Given the description of an element on the screen output the (x, y) to click on. 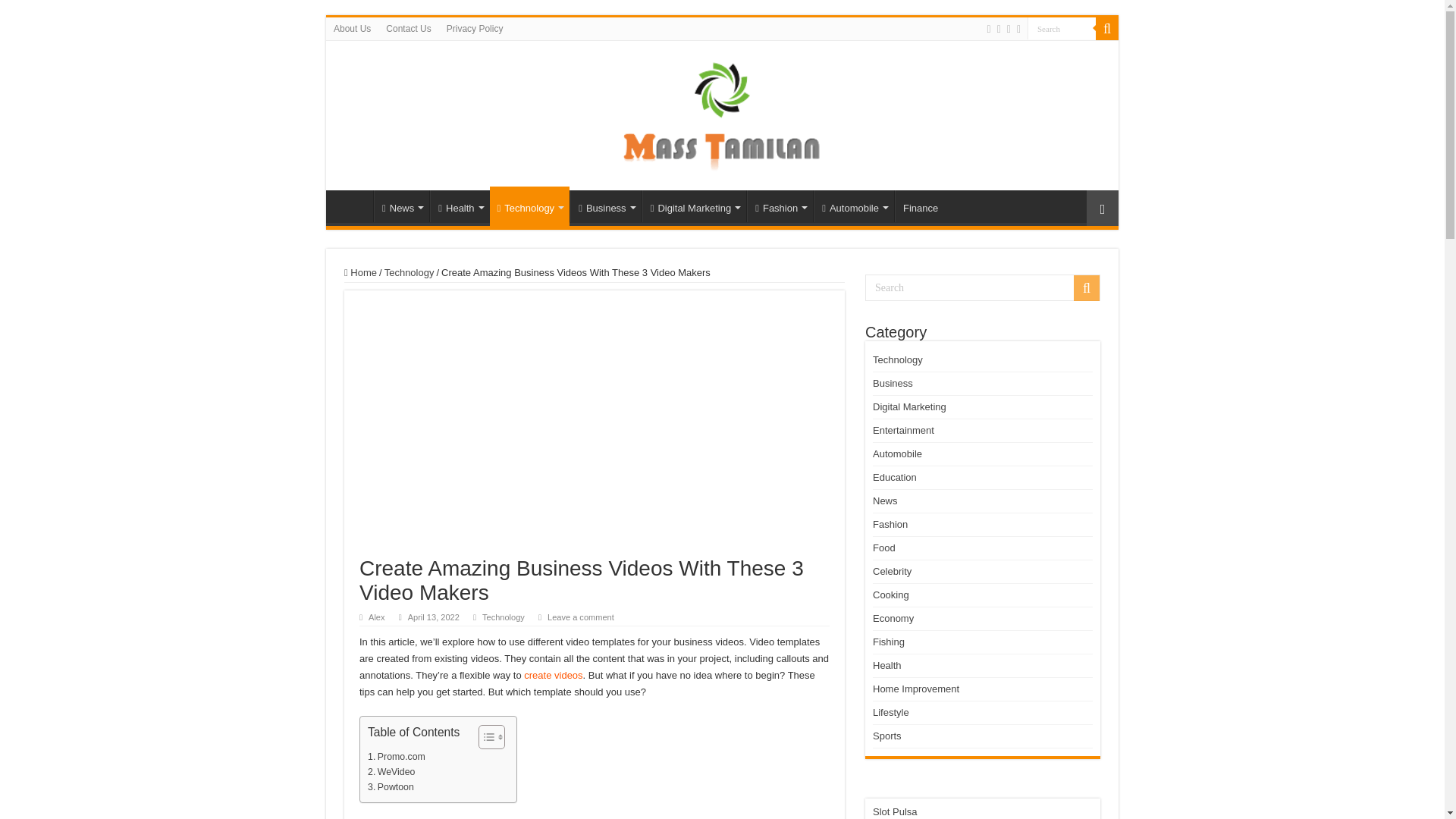
Contact Us (408, 28)
News (401, 205)
Search (1061, 28)
Health (459, 205)
Privacy Policy (475, 28)
Search (1107, 28)
Search (1061, 28)
Search (982, 287)
Home (352, 205)
About Us (352, 28)
